Given the description of an element on the screen output the (x, y) to click on. 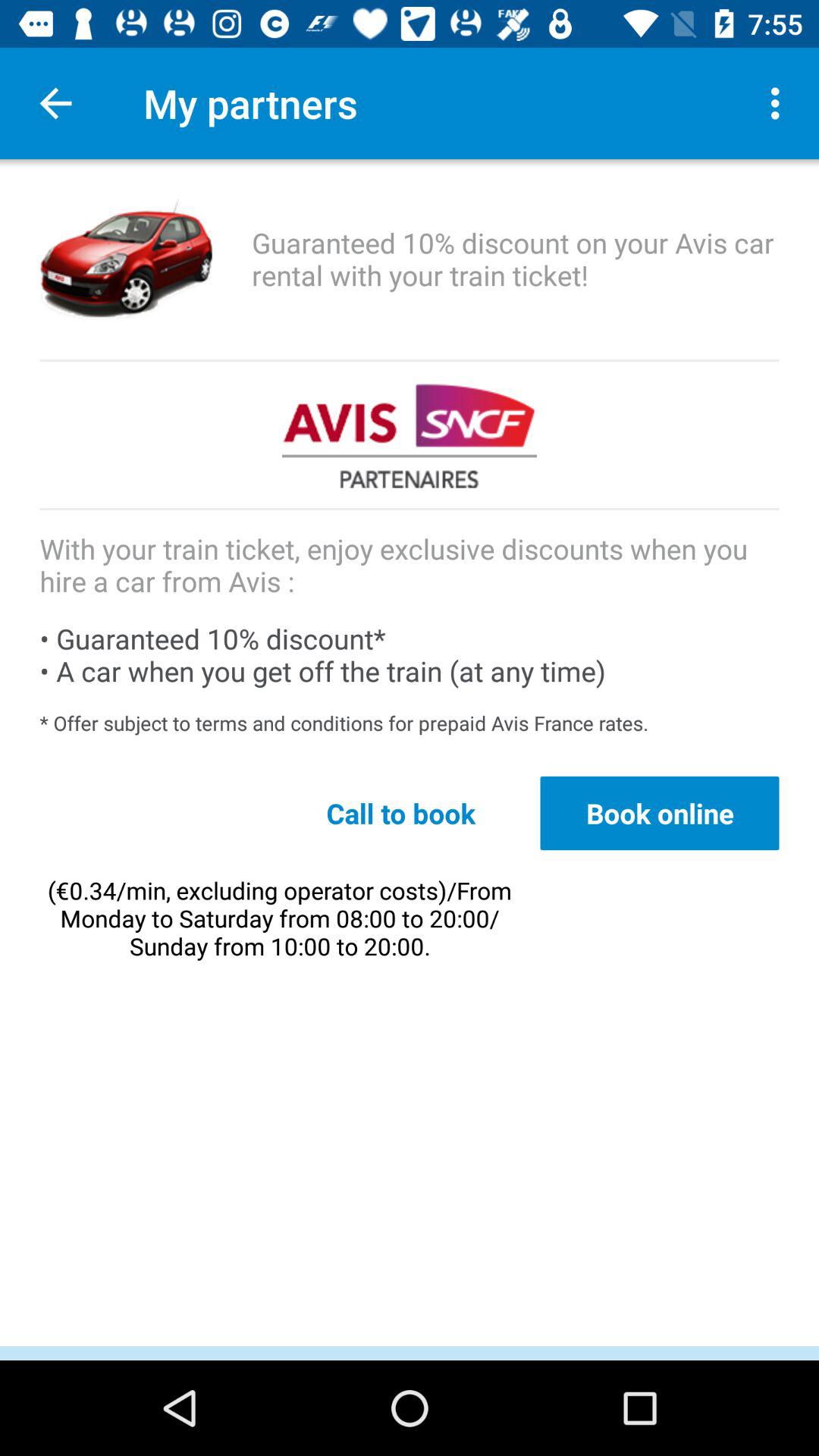
click the call to book icon (400, 813)
